Given the description of an element on the screen output the (x, y) to click on. 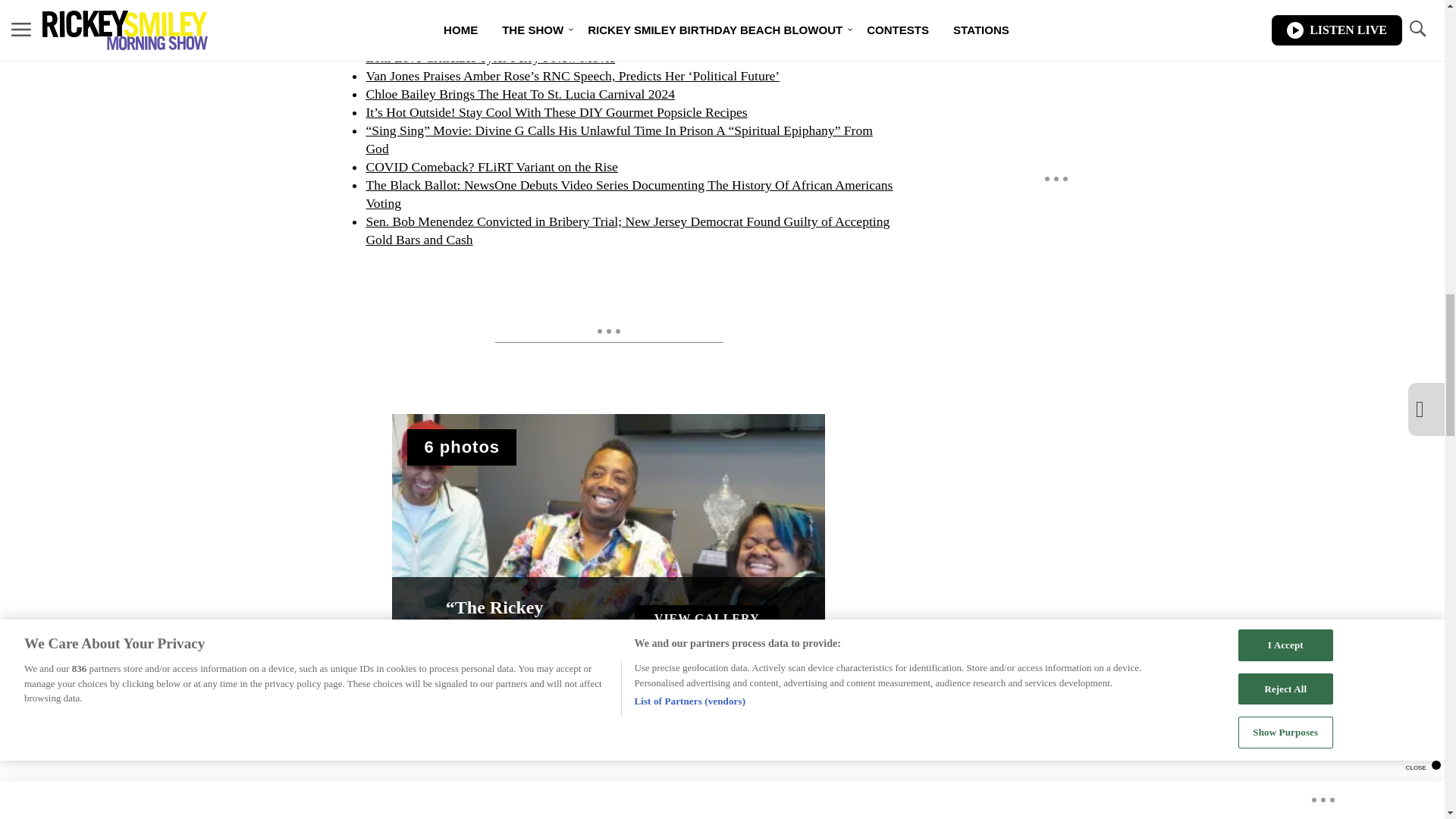
Media Playlist (461, 447)
Chloe Bailey Brings The Heat To St. Lucia Carnival 2024 (520, 93)
Ashanti and Nelly Reality Show Underway (480, 20)
Vuukle Sharebar Widget (585, 765)
Member of Jagged Edge Shares Near Death Experience (513, 38)
